Given the description of an element on the screen output the (x, y) to click on. 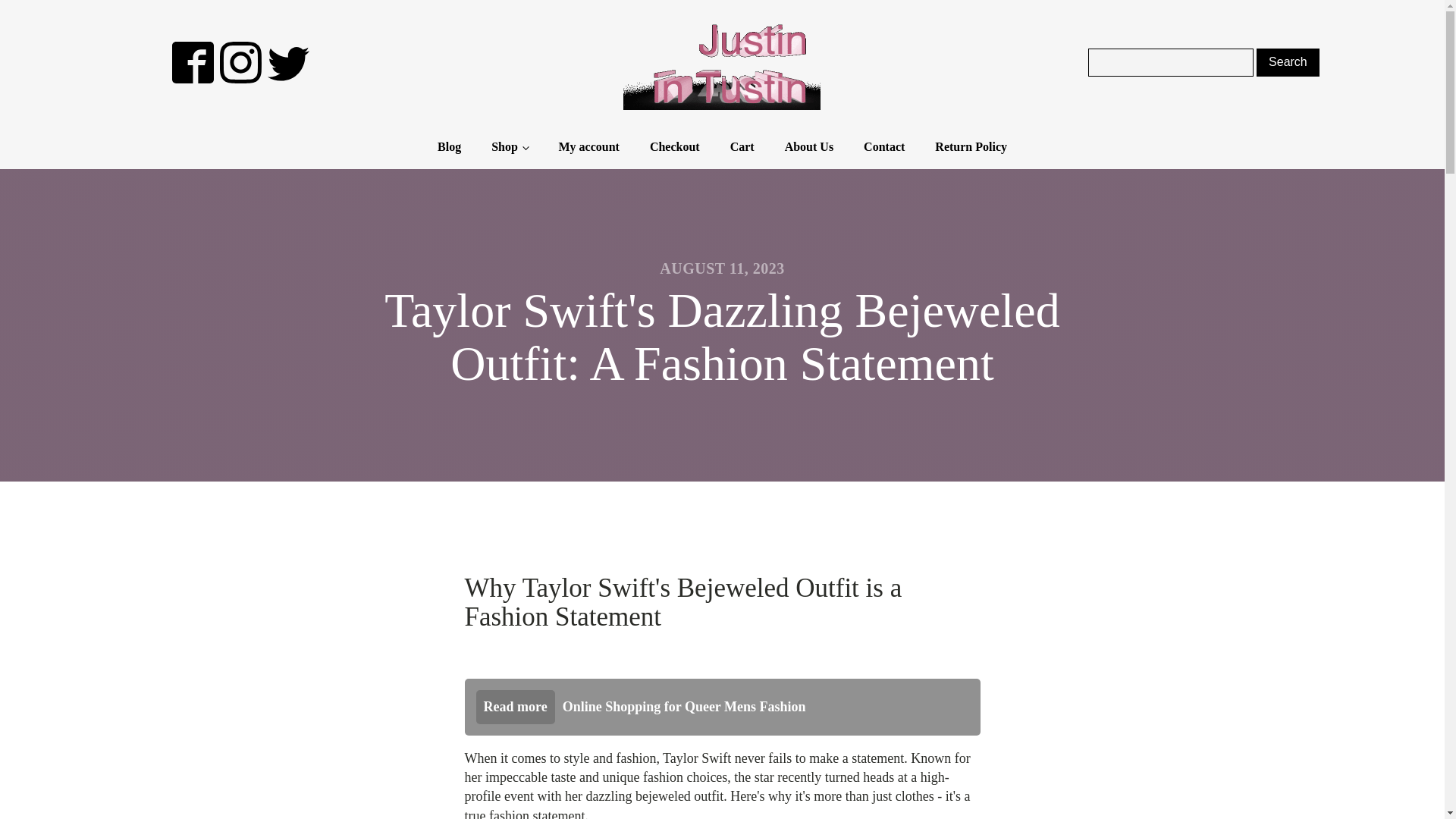
Shop (509, 146)
Return Policy (971, 146)
About Us (809, 146)
Checkout (674, 146)
Read moreOnline Shopping for Queer Mens Fashion (721, 706)
Search (1287, 62)
My account (588, 146)
Blog (449, 146)
Contact (884, 146)
Cart (742, 146)
